Given the description of an element on the screen output the (x, y) to click on. 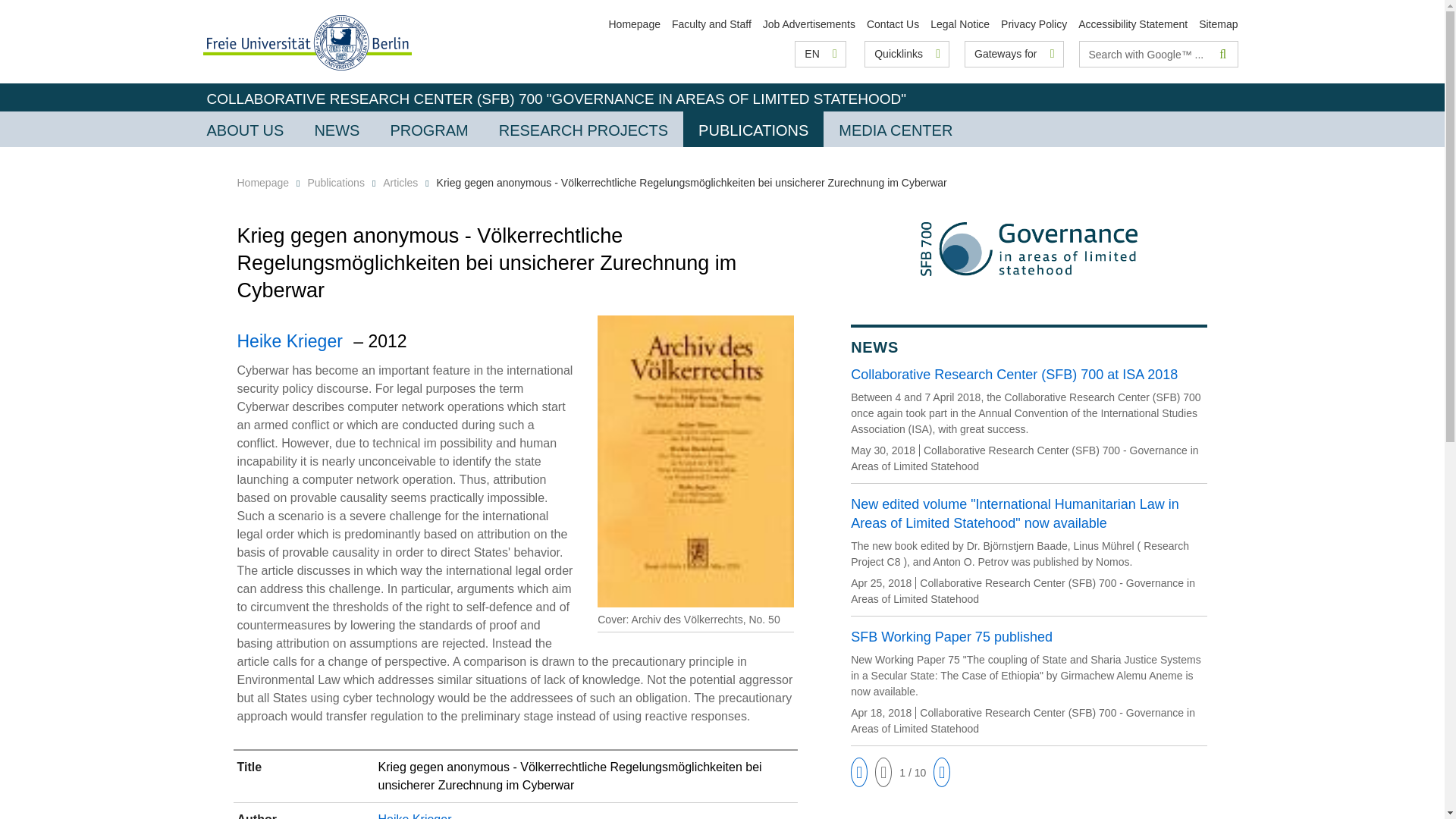
Faculty and Staff (711, 24)
Privacy Policy (1034, 24)
Contact Us (892, 24)
Sitemap (1217, 24)
Legal Notice (960, 24)
Accessibility Statement (1133, 24)
Job Advertisements (809, 24)
Homepage (634, 24)
